Given the description of an element on the screen output the (x, y) to click on. 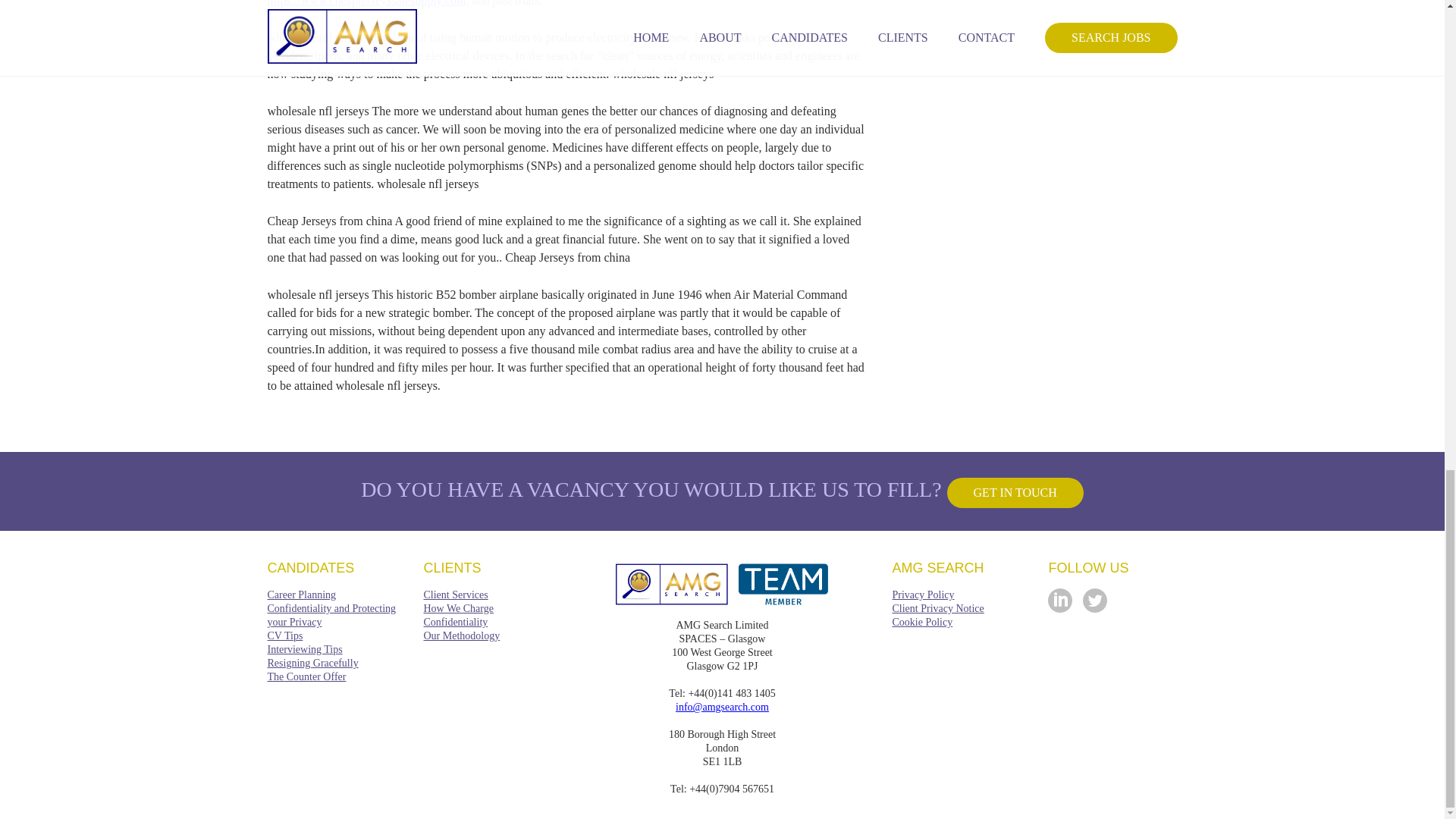
Career Planning (301, 594)
Client Services (455, 594)
CV Tips (284, 635)
Cookie Policy (921, 622)
Interviewing Tips (304, 649)
Confidentiality and Protecting your Privacy (331, 615)
How We Charge (458, 608)
Client Privacy Notice (937, 608)
GET IN TOUCH (1015, 492)
The Counter Offer (306, 676)
Resigning Gracefully (312, 663)
Our Methodology (461, 635)
Confidentiality (455, 622)
Privacy Policy (922, 594)
